Given the description of an element on the screen output the (x, y) to click on. 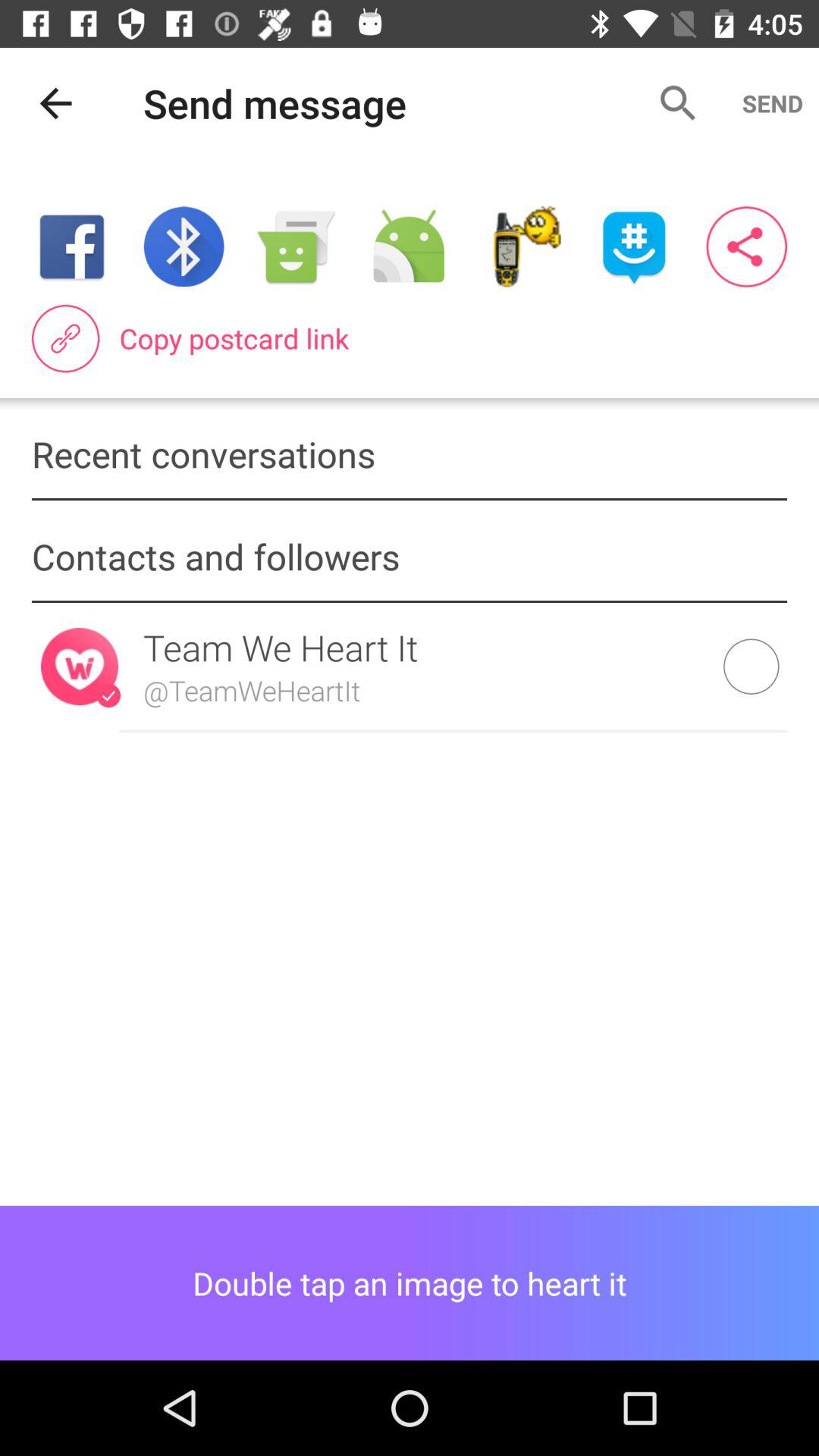
share to facebook (71, 246)
